Given the description of an element on the screen output the (x, y) to click on. 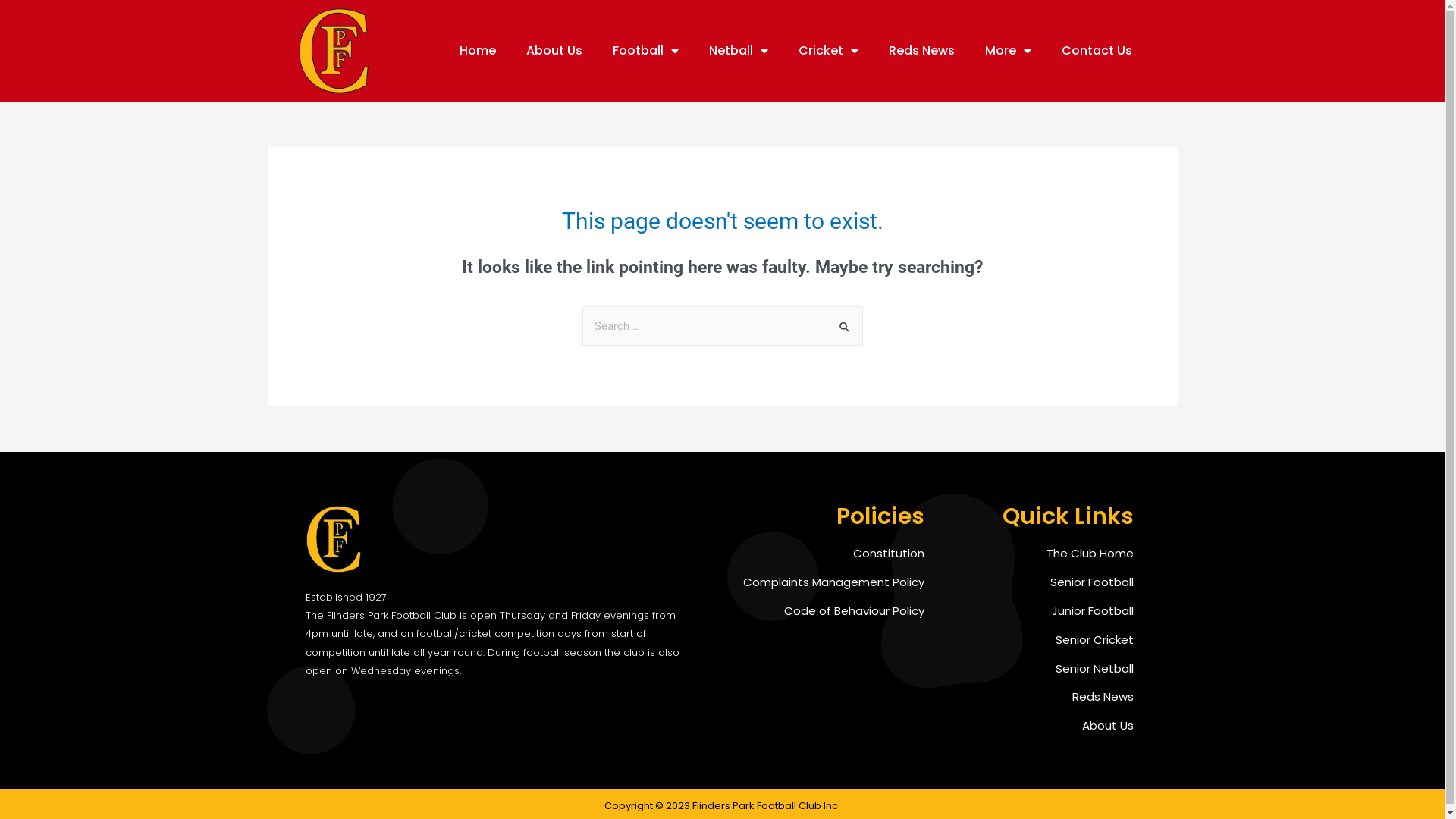
More Element type: text (1007, 50)
Netball Element type: text (737, 50)
Search Element type: text (845, 321)
About Us Element type: text (1035, 725)
Constitution Element type: text (817, 553)
Senior Football Element type: text (1035, 582)
Reds News Element type: text (921, 50)
Complaints Management Policy Element type: text (817, 582)
Senior Cricket Element type: text (1035, 639)
Cricket Element type: text (827, 50)
Junior Football Element type: text (1035, 610)
The Club Home Element type: text (1035, 553)
Reds News Element type: text (1035, 696)
Senior Netball Element type: text (1035, 668)
Code of Behaviour Policy Element type: text (817, 610)
Football Element type: text (645, 50)
About Us Element type: text (554, 50)
Home Element type: text (477, 50)
Contact Us Element type: text (1096, 50)
